Given the description of an element on the screen output the (x, y) to click on. 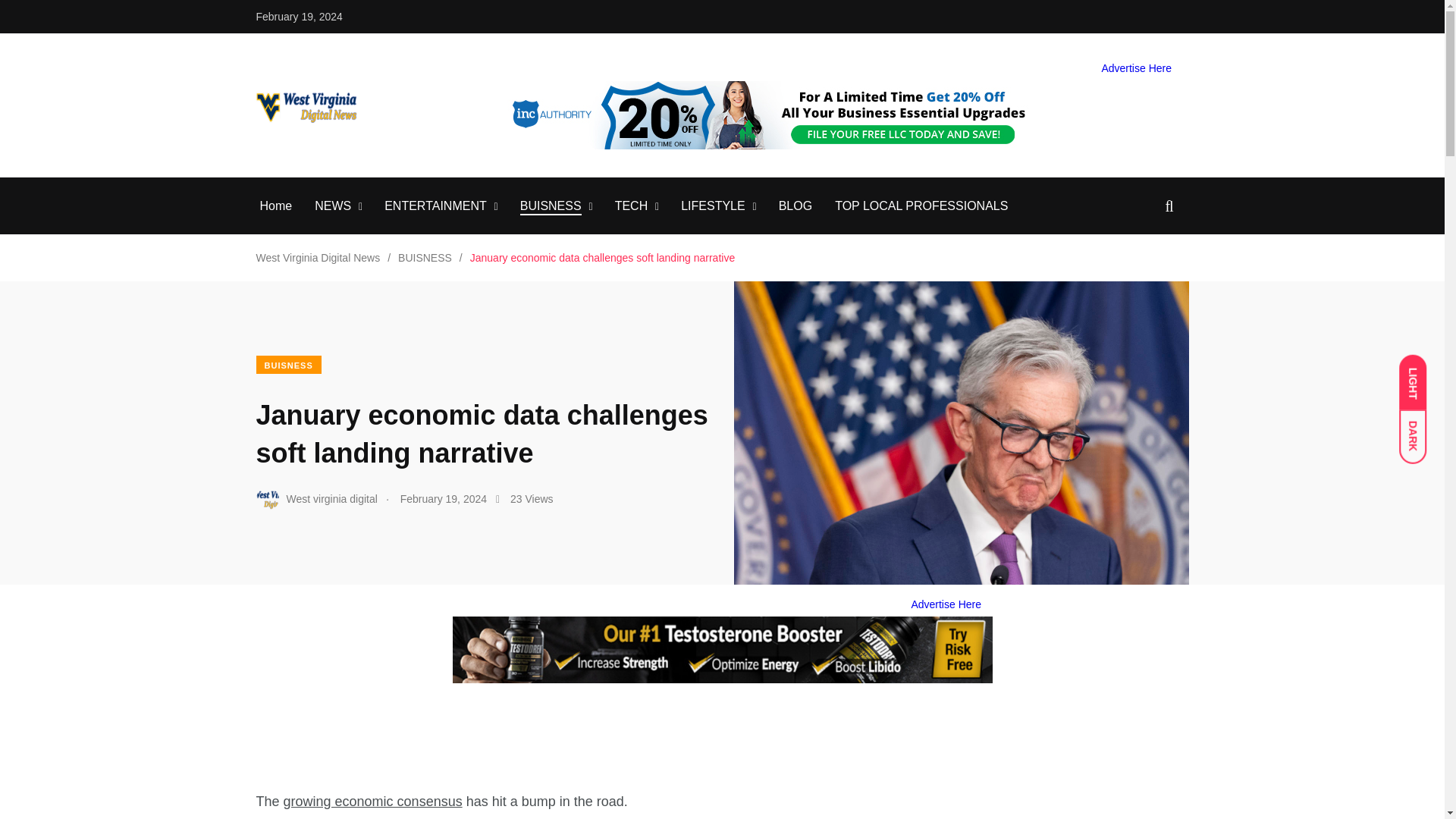
BUISNESS (549, 206)
LIFESTYLE (712, 206)
Light Mode (1420, 375)
ENTERTAINMENT (435, 206)
BLOG (795, 206)
NEWS (332, 206)
Home (275, 206)
Go to the BUISNESS Category archives. (424, 257)
TOP LOCAL PROFESSIONALS (920, 206)
Go to West Virginia Digital News. (318, 257)
West Virginia Digital News (318, 257)
TECH (630, 206)
Dark Mode (1419, 428)
BUISNESS (424, 257)
